Given the description of an element on the screen output the (x, y) to click on. 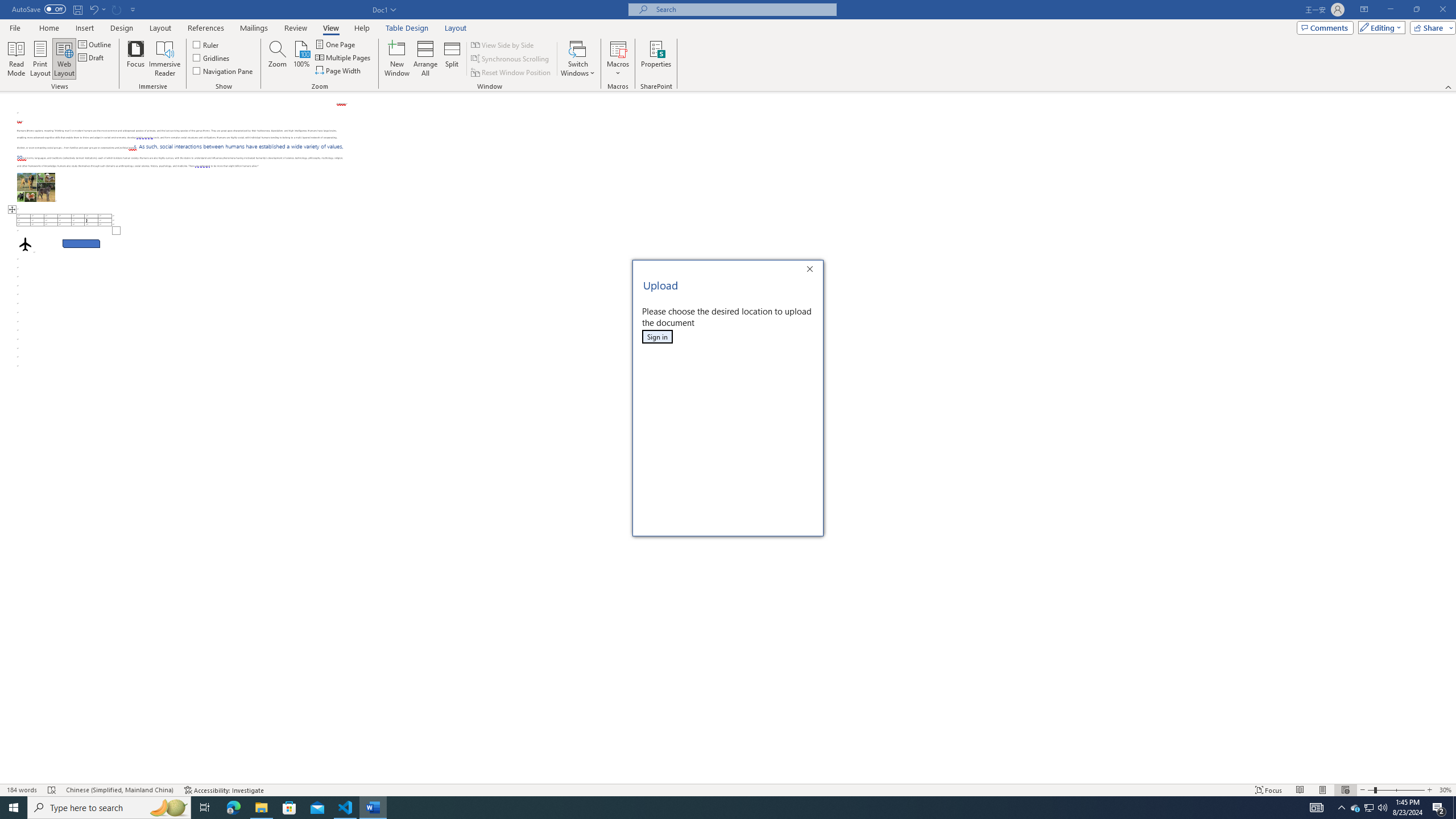
Arrange All (425, 58)
Microsoft Edge (233, 807)
